Given the description of an element on the screen output the (x, y) to click on. 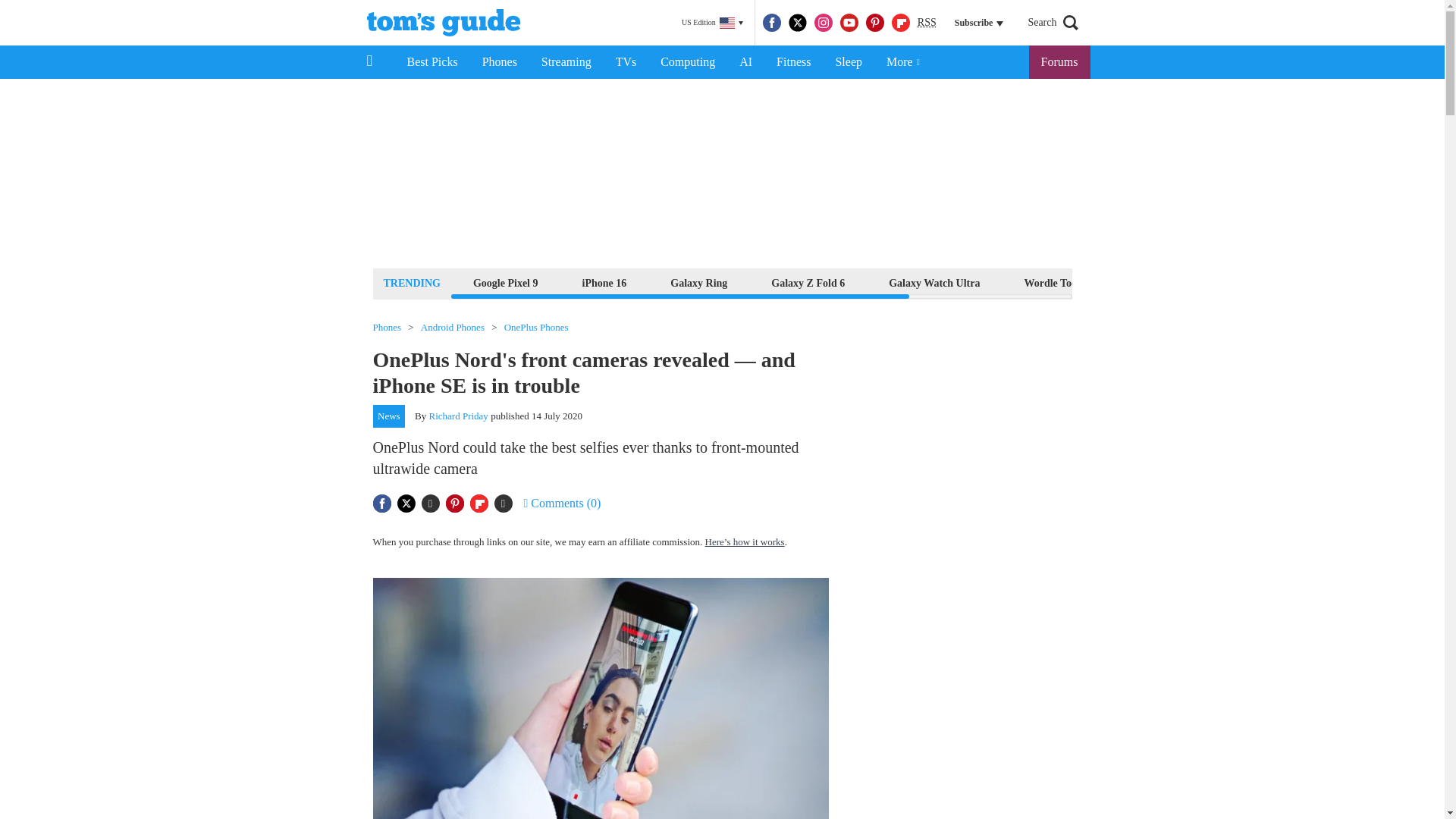
Computing (686, 61)
Sleep (848, 61)
AI (745, 61)
US Edition (712, 22)
TVs (626, 61)
Best Picks (431, 61)
Phones (499, 61)
Fitness (793, 61)
RSS (926, 22)
Streaming (566, 61)
Really Simple Syndication (926, 21)
